Given the description of an element on the screen output the (x, y) to click on. 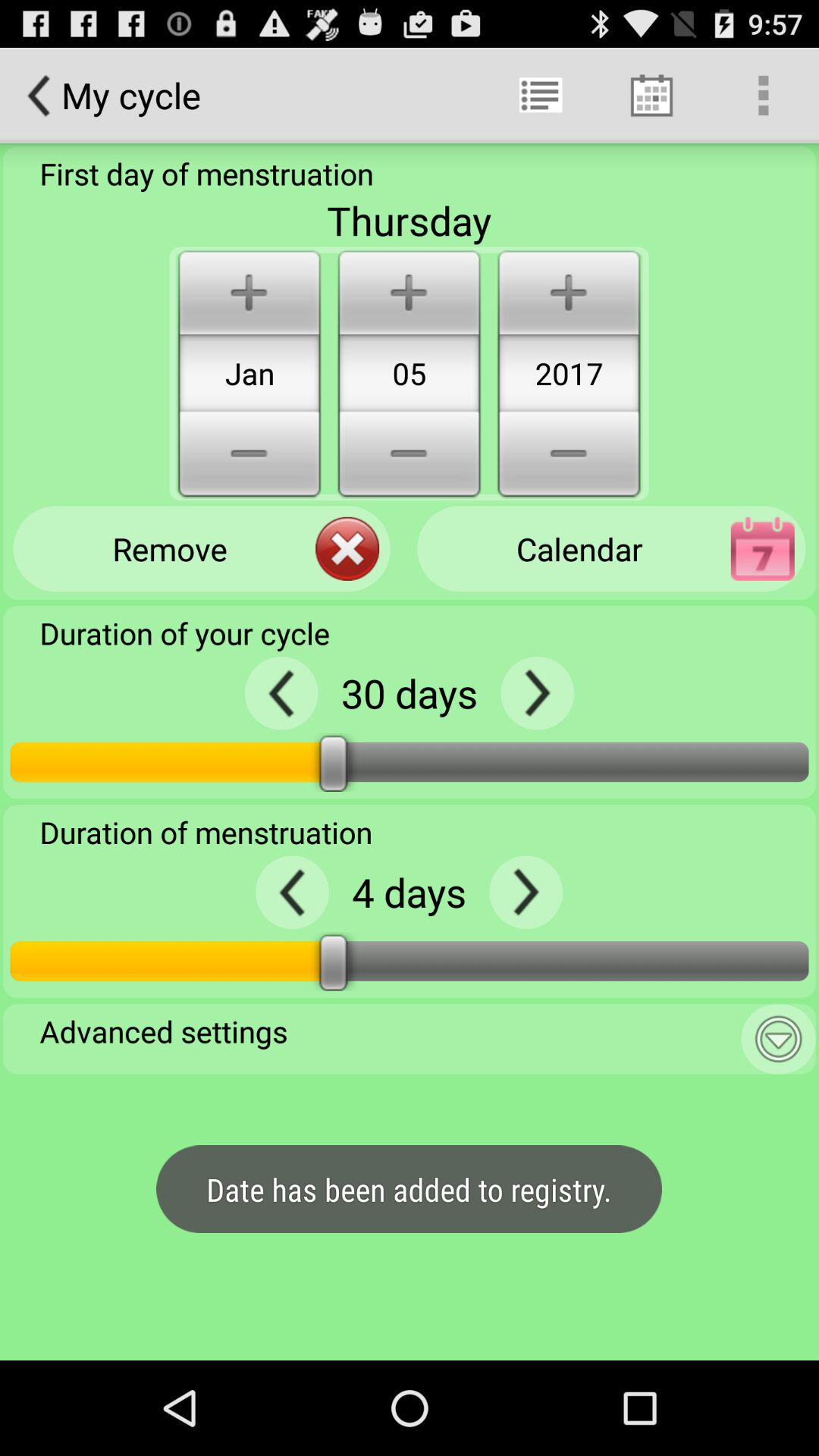
select the symbol (525, 892)
